Given the description of an element on the screen output the (x, y) to click on. 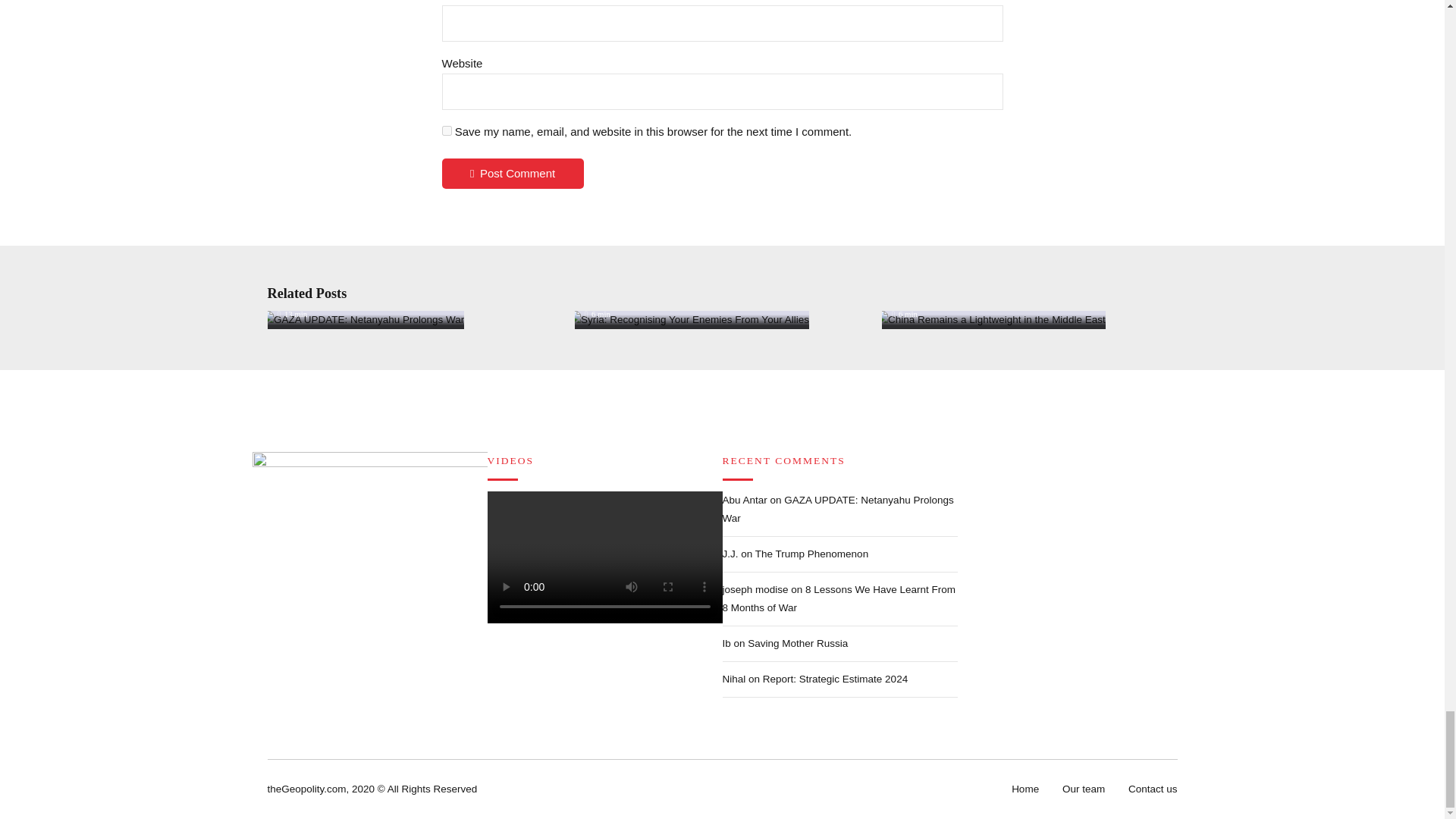
GAZA UPDATE: Netanyahu Prolongs War (363, 320)
China Remains a Lightweight in the Middle East (990, 320)
Syria: Recognising Your Enemies From Your Allies (689, 320)
yes (446, 130)
